Given the description of an element on the screen output the (x, y) to click on. 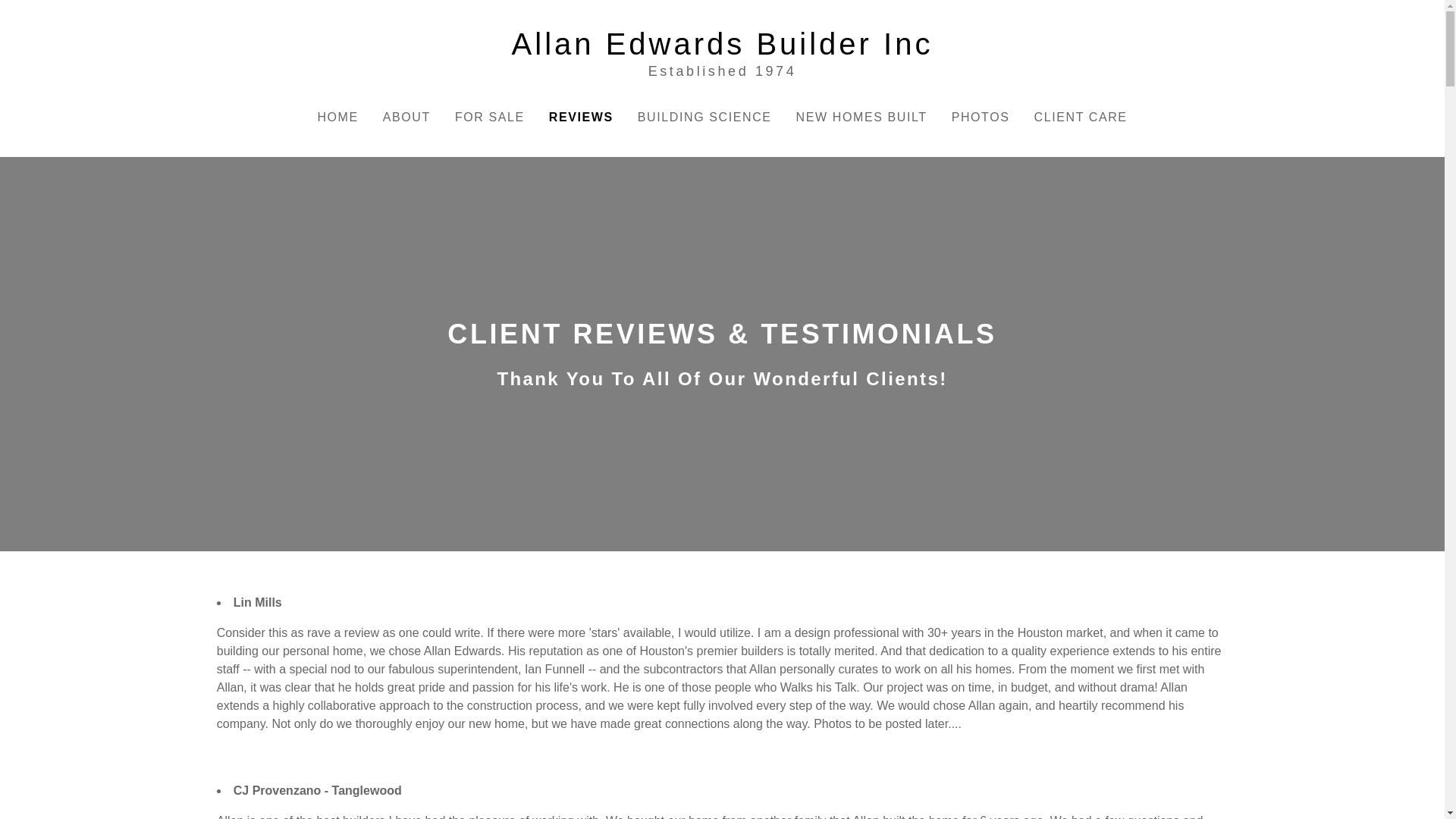
PHOTOS (980, 116)
BUILDING SCIENCE (705, 116)
NEW HOMES BUILT (861, 116)
CLIENT CARE (1081, 116)
HOME (336, 116)
FOR SALE (489, 116)
Skip to main content (12, 12)
REVIEWS (581, 116)
ABOUT (721, 52)
